Given the description of an element on the screen output the (x, y) to click on. 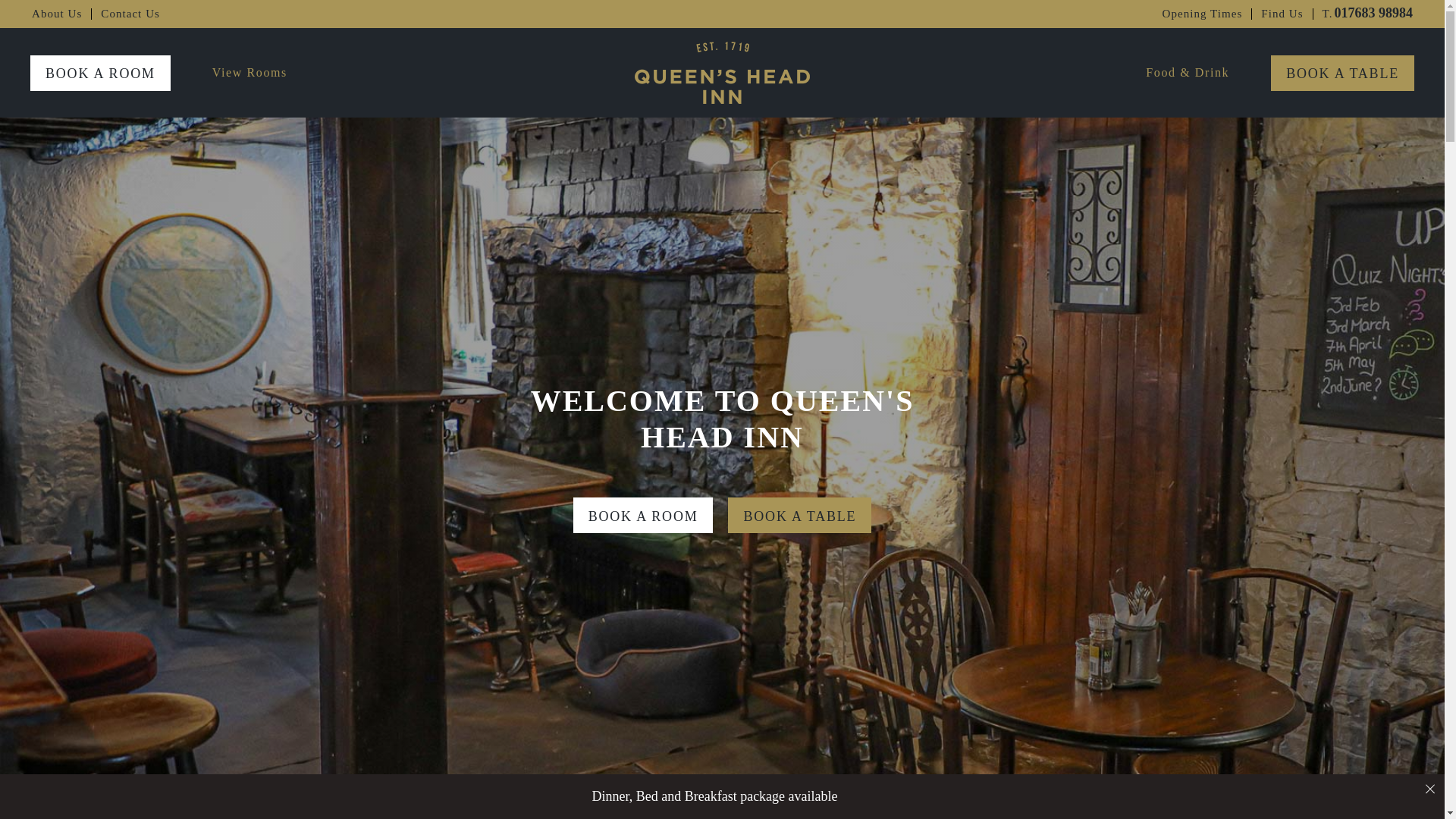
BOOK A TABLE (1342, 72)
BOOK A ROOM (643, 515)
Opening Times (1202, 13)
View Rooms (249, 72)
About Us (56, 13)
Find Us (1367, 13)
Contact Us (1281, 13)
BOOK A TABLE (129, 13)
BOOK A ROOM (799, 515)
